Given the description of an element on the screen output the (x, y) to click on. 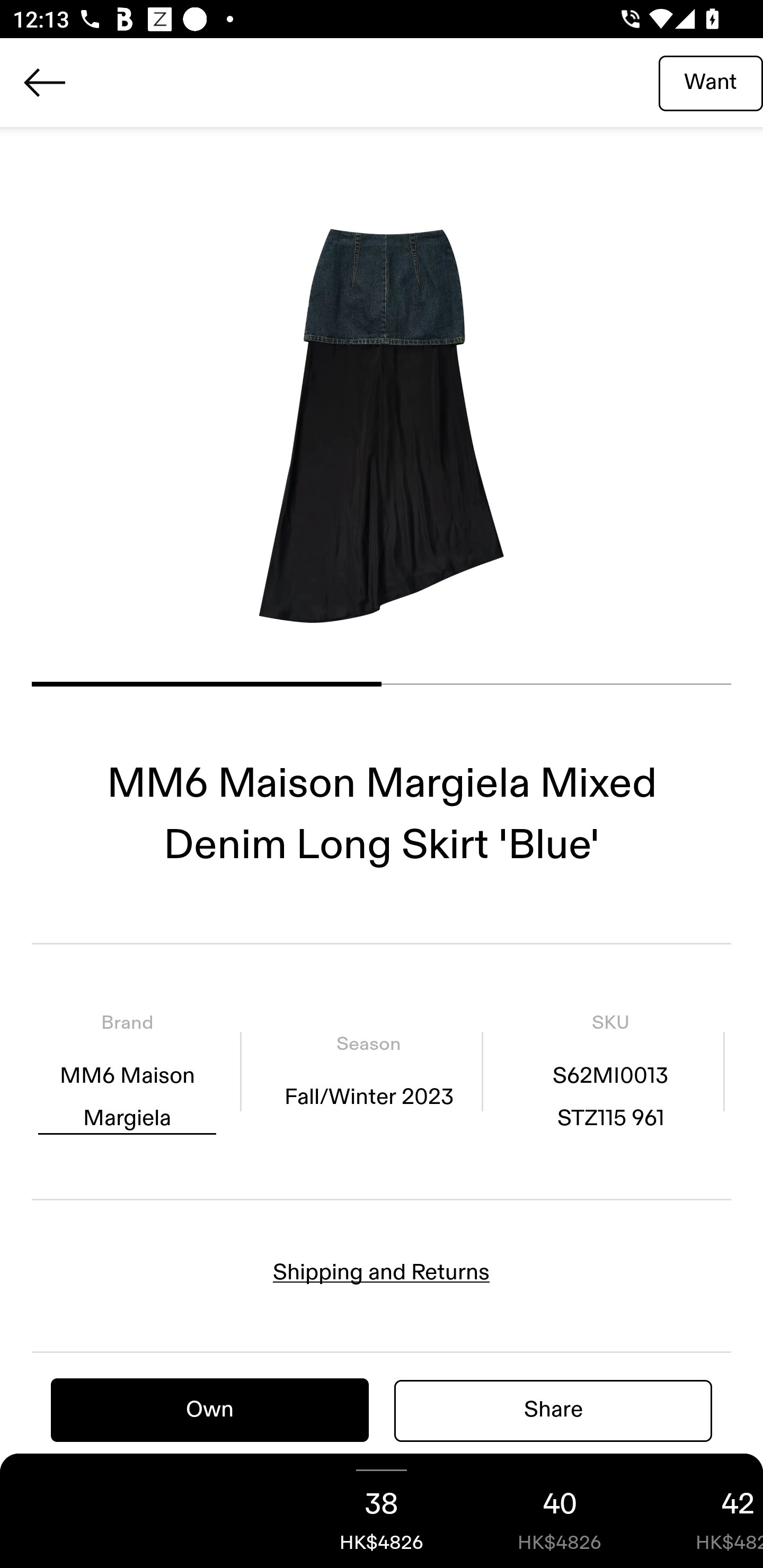
Want (710, 82)
Brand MM6 Maison Margiela (126, 1070)
Season Fall/Winter 2023 (368, 1070)
SKU S62MI0013 STZ115 961 (609, 1070)
Shipping and Returns (381, 1272)
Own (209, 1410)
Share (552, 1410)
38 HK$4826 (381, 1510)
40 HK$4826 (559, 1510)
42 HK$4826 (705, 1510)
